Given the description of an element on the screen output the (x, y) to click on. 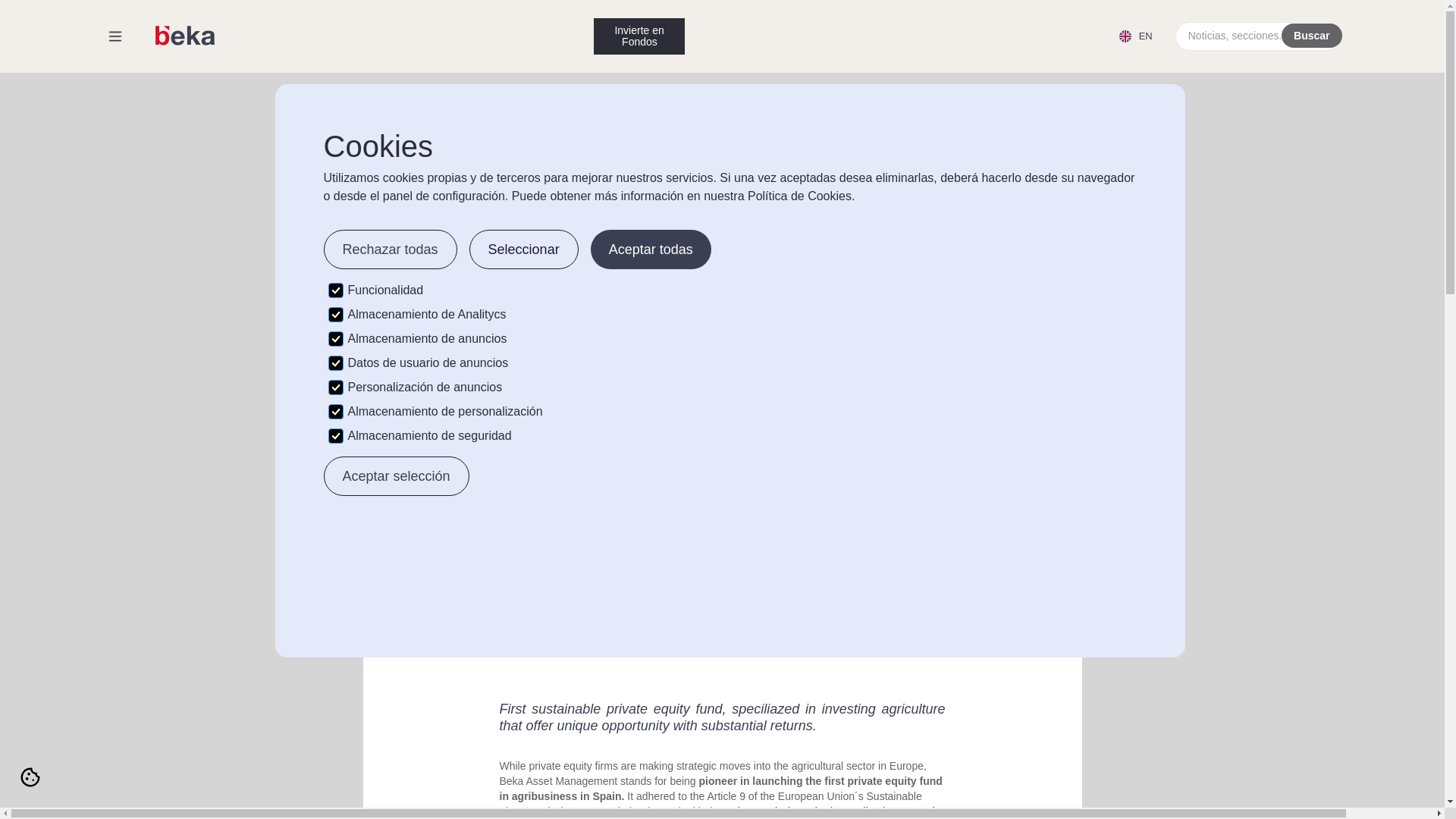
Buscar (1311, 35)
Buscar (1311, 35)
Invierte en Fondos (639, 36)
Buscar (1311, 35)
